Given the description of an element on the screen output the (x, y) to click on. 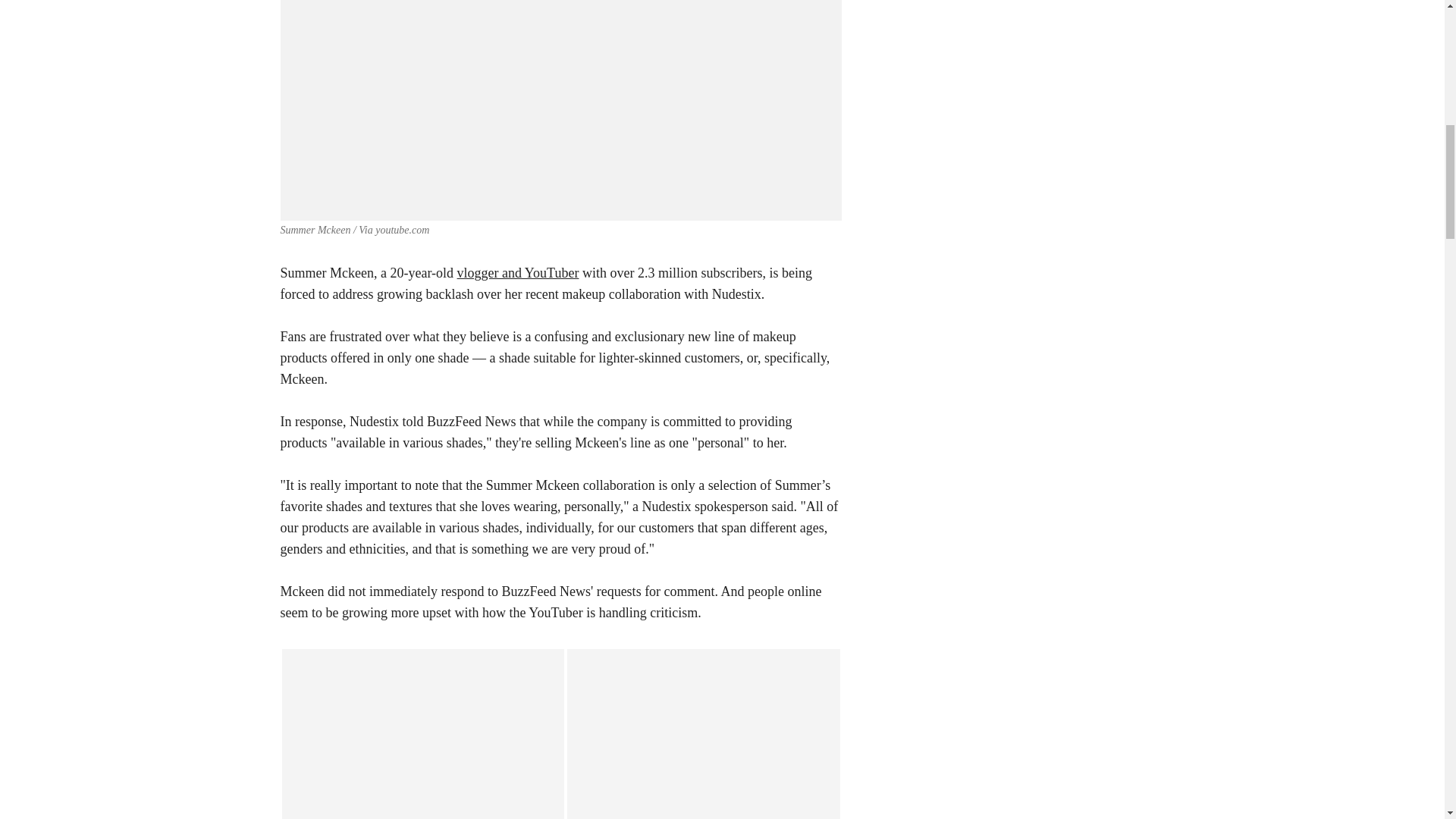
youtube.com (402, 229)
vlogger and YouTuber (518, 272)
